Given the description of an element on the screen output the (x, y) to click on. 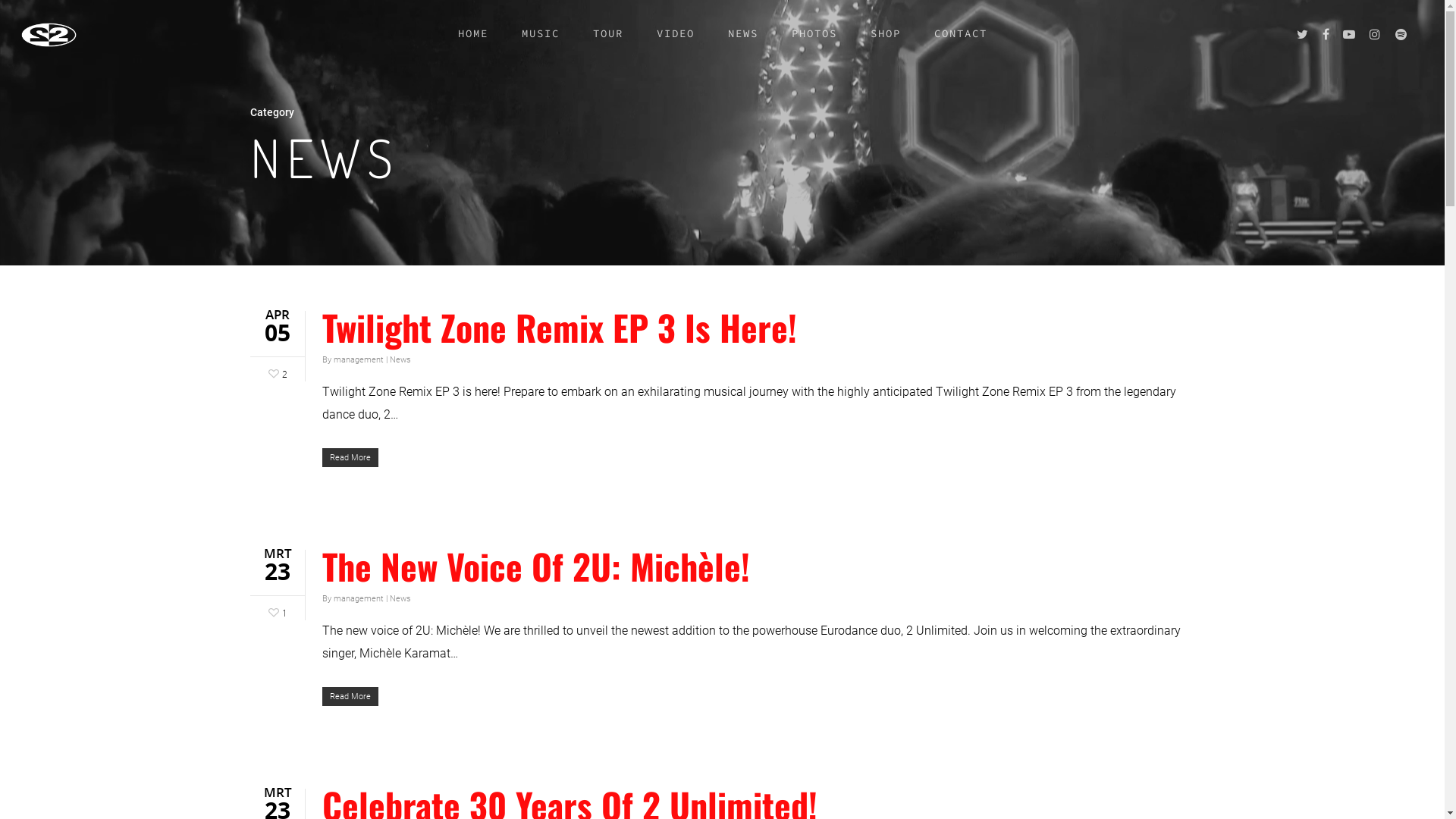
Read More Element type: text (758, 457)
HOME Element type: text (473, 45)
News Element type: text (400, 598)
News Element type: text (400, 359)
MUSIC Element type: text (540, 45)
1 Element type: text (275, 610)
PHOTOS Element type: text (814, 45)
CONTACT Element type: text (960, 45)
TOUR Element type: text (608, 45)
Twilight Zone Remix EP 3 Is Here! Element type: text (559, 326)
2 Element type: text (275, 371)
SHOP Element type: text (885, 45)
VIDEO Element type: text (675, 45)
management Element type: text (358, 359)
management Element type: text (358, 598)
Read More Element type: text (758, 696)
NEWS Element type: text (743, 45)
